Given the description of an element on the screen output the (x, y) to click on. 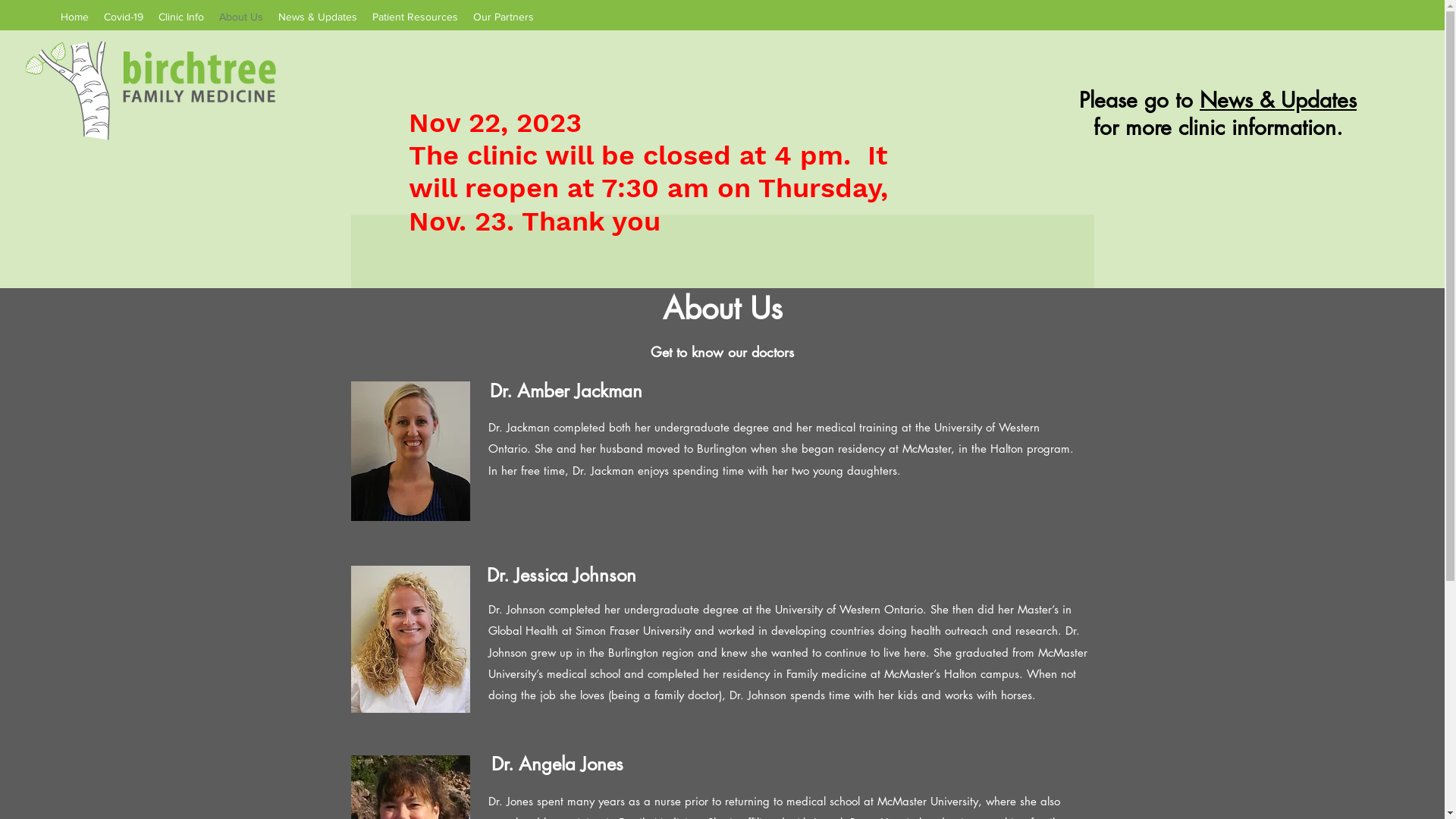
Covid-19 Element type: text (123, 16)
AmberJackman.jpg Element type: hover (409, 450)
Jessica.jpg Element type: hover (409, 638)
Clinic Info Element type: text (180, 16)
Our Partners Element type: text (503, 16)
News & Updates Element type: text (1277, 99)
Home Element type: text (74, 16)
About Us Element type: text (240, 16)
News & Updates Element type: text (317, 16)
Patient Resources Element type: text (414, 16)
